Given the description of an element on the screen output the (x, y) to click on. 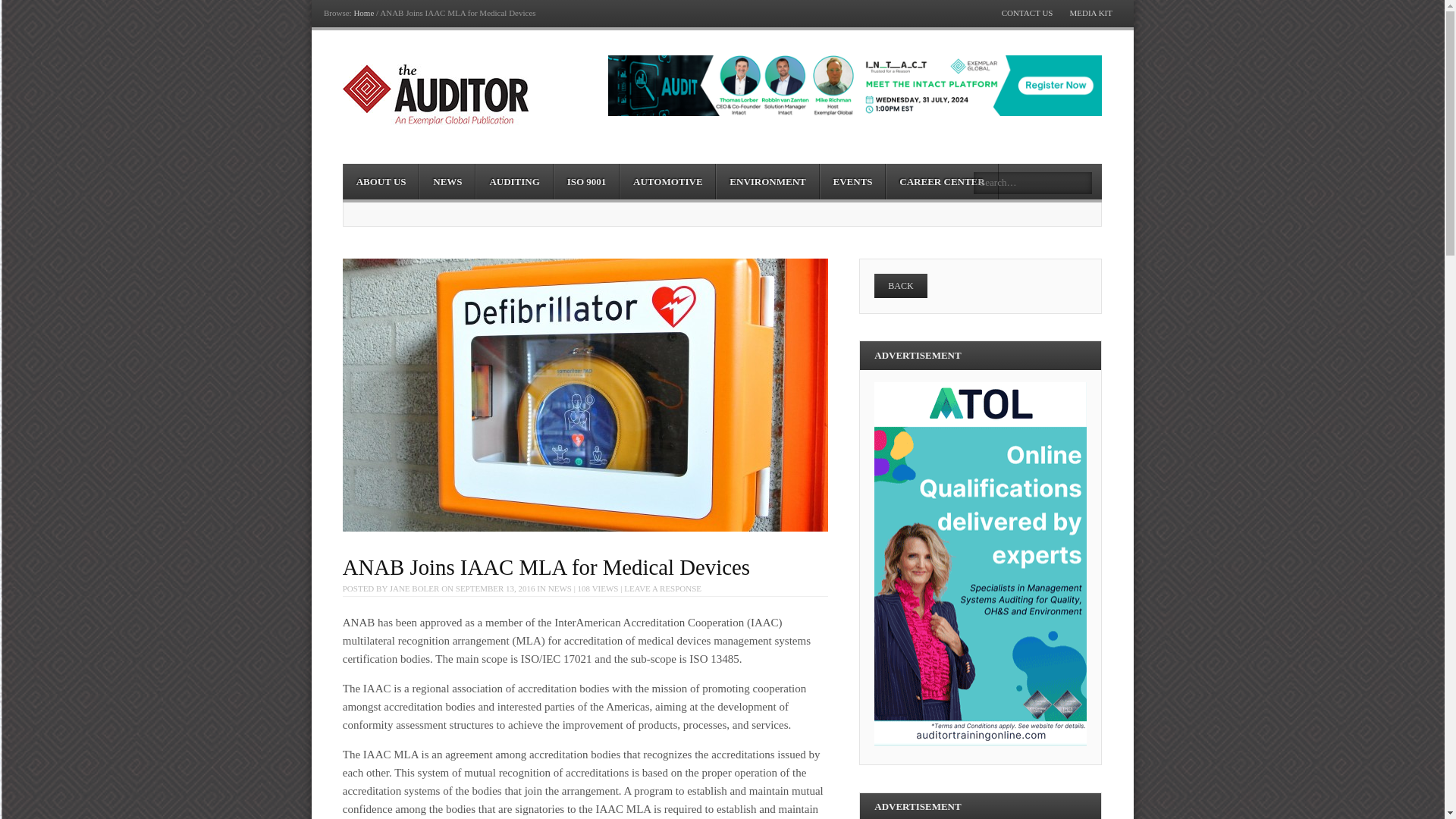
The Auditor (435, 94)
EVENTS (852, 181)
AUTOMOTIVE (668, 181)
Back (900, 285)
LEAVE A RESPONSE (662, 587)
Comment on ANAB Joins IAAC MLA for Medical Devices (662, 587)
The Auditor (363, 12)
NEWS (447, 181)
ENVIRONMENT (767, 181)
Tuesday, September 13th, 2016, 6:20 pm (495, 587)
ABOUT US (381, 181)
CAREER CENTER (941, 181)
Home (363, 12)
AUDITING (514, 181)
MEDIA KIT (1091, 13)
